Given the description of an element on the screen output the (x, y) to click on. 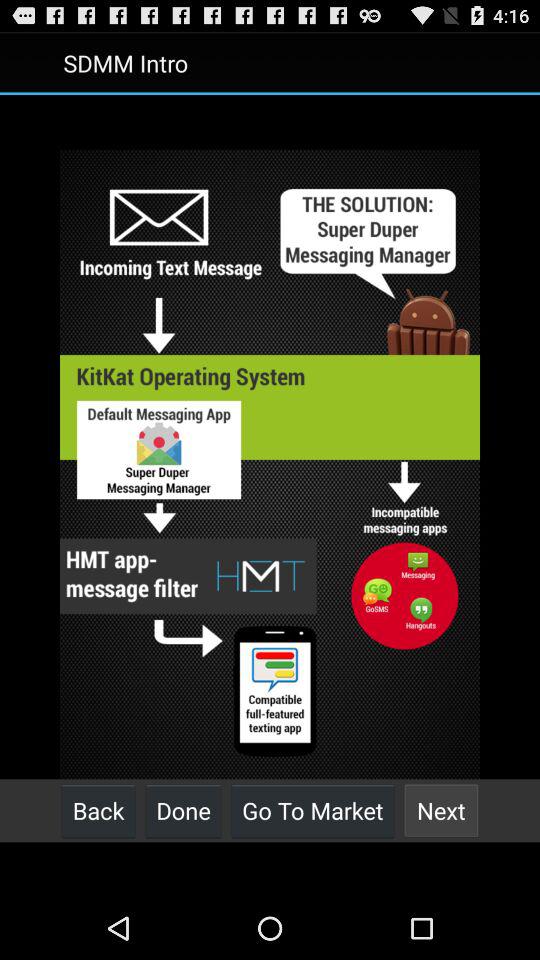
launch the item to the right of the go to market icon (441, 810)
